Given the description of an element on the screen output the (x, y) to click on. 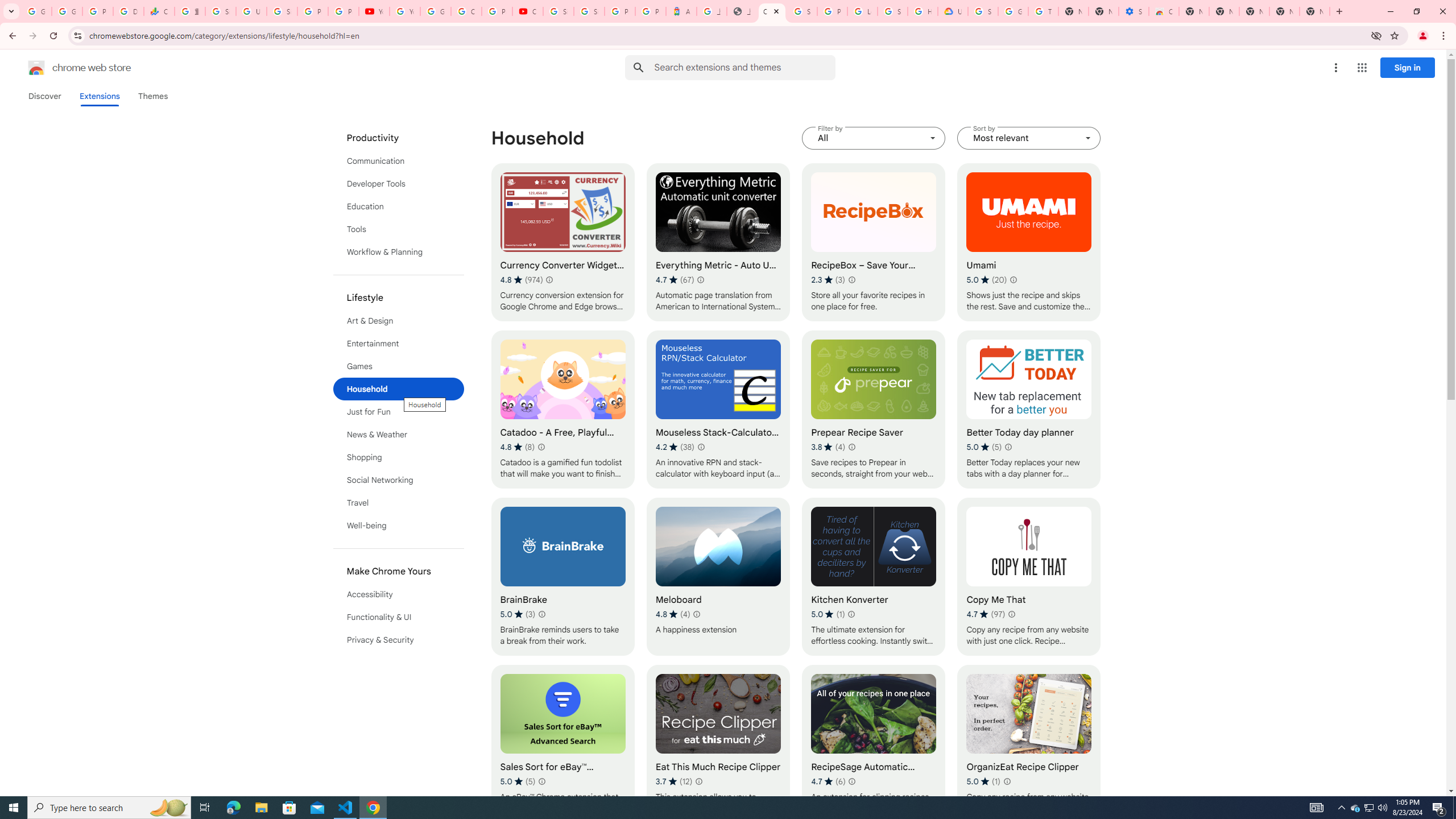
Google Workspace Admin Community (36, 11)
Average rating 2.3 out of 5 stars. 3 ratings. (827, 279)
Sign in - Google Accounts (589, 11)
Tools (398, 228)
Household (selected) (398, 388)
Meloboard (718, 576)
Functionality & UI (398, 617)
Create your Google Account (465, 11)
More options menu (1335, 67)
Average rating 5 out of 5 stars. 5 ratings. (517, 781)
